Given the description of an element on the screen output the (x, y) to click on. 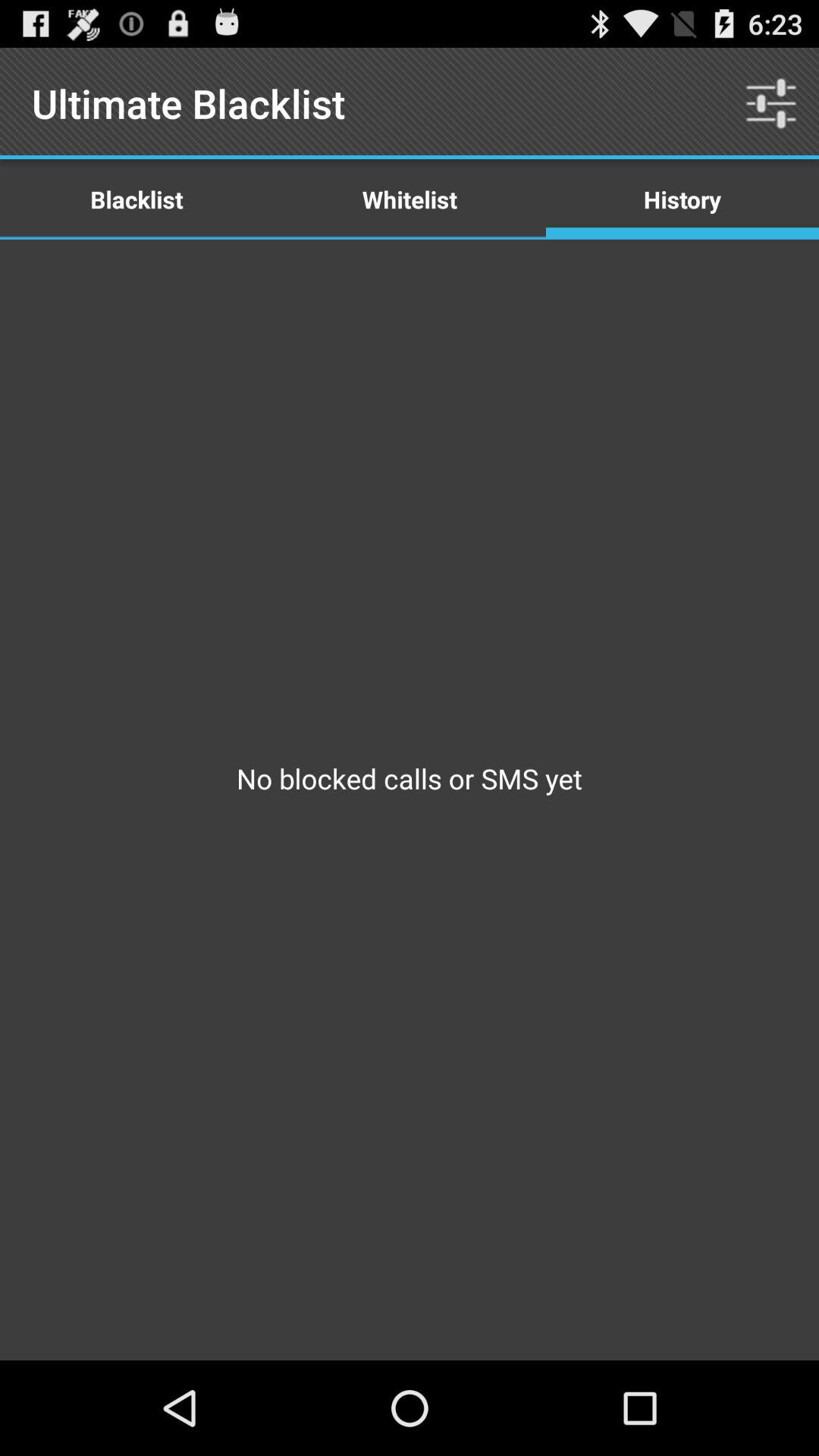
turn off the icon next to the history item (409, 199)
